Given the description of an element on the screen output the (x, y) to click on. 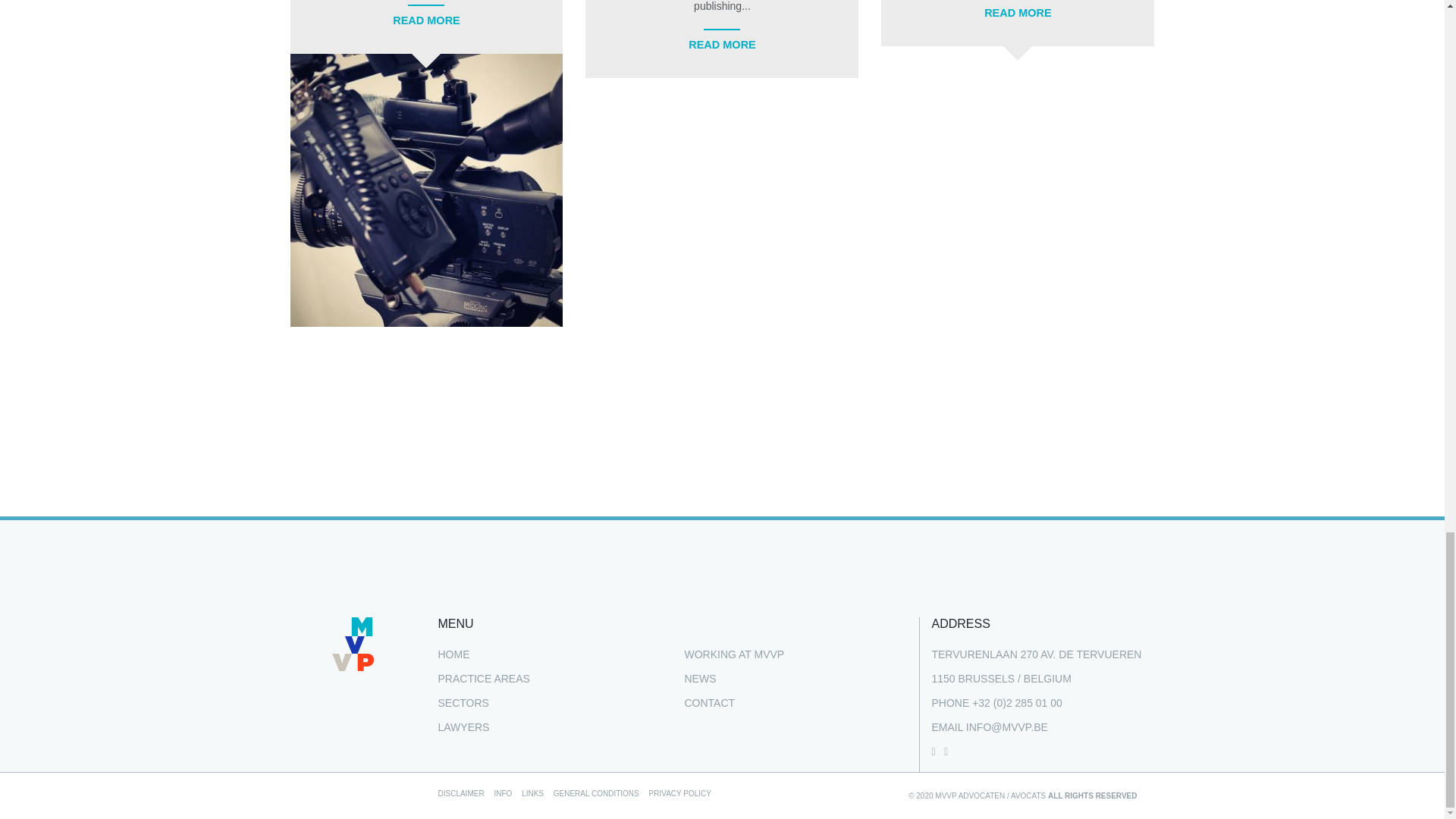
CONTACT (709, 702)
SECTORS (463, 702)
INFO (502, 793)
READ MORE (1017, 12)
READ MORE (721, 44)
HOME (454, 654)
NEWS (700, 678)
DISCLAIMER (461, 793)
LAWYERS (463, 727)
PRACTICE AREAS (483, 678)
READ MORE (426, 20)
WORKING AT MVVP (734, 654)
